Given the description of an element on the screen output the (x, y) to click on. 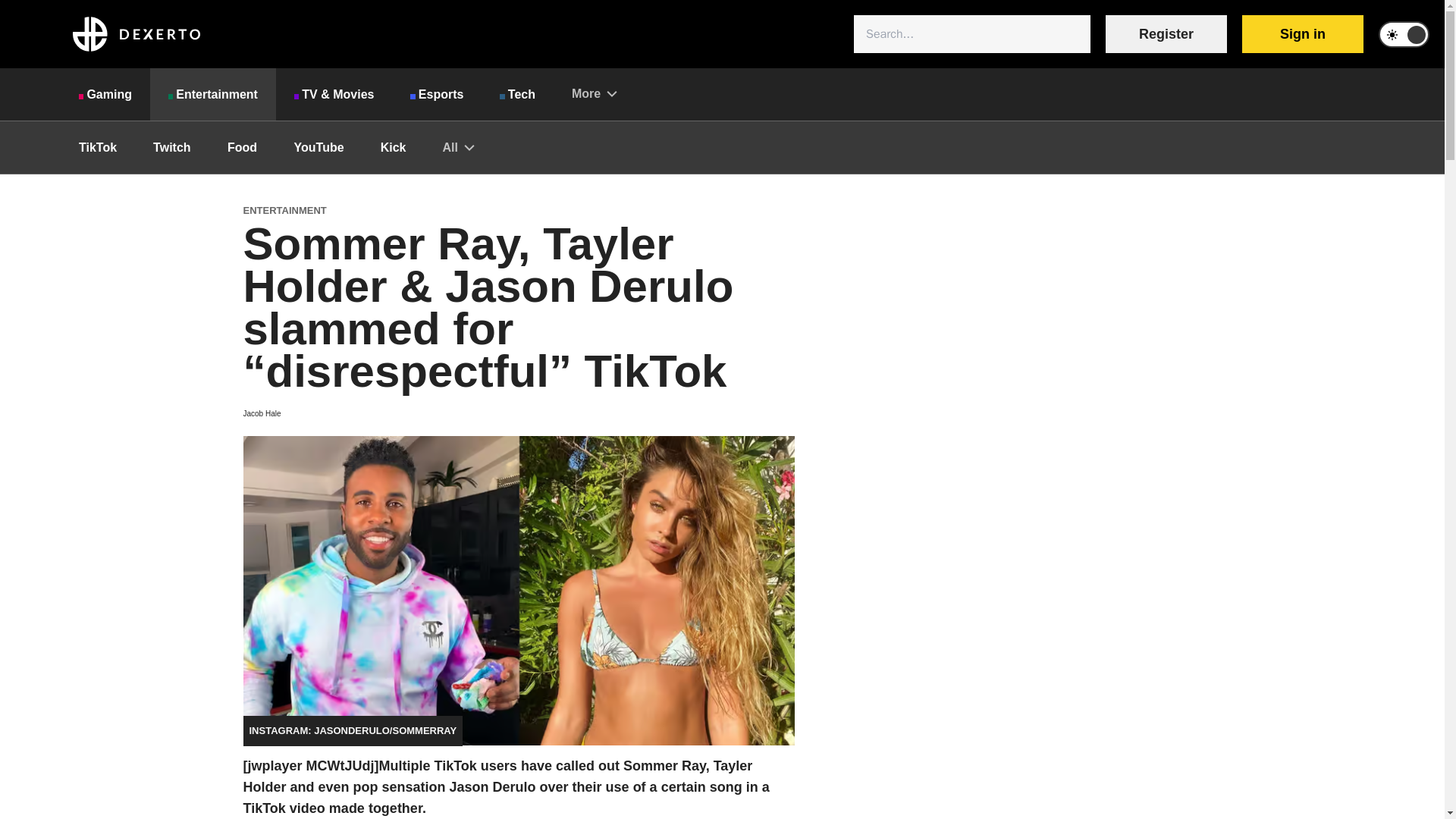
Register (1166, 34)
Entertainment (212, 93)
Sign in (1301, 34)
YouTube (319, 147)
Esports (436, 93)
TikTok (98, 147)
Food (242, 147)
All (457, 147)
More (593, 93)
Tech (517, 93)
